Given the description of an element on the screen output the (x, y) to click on. 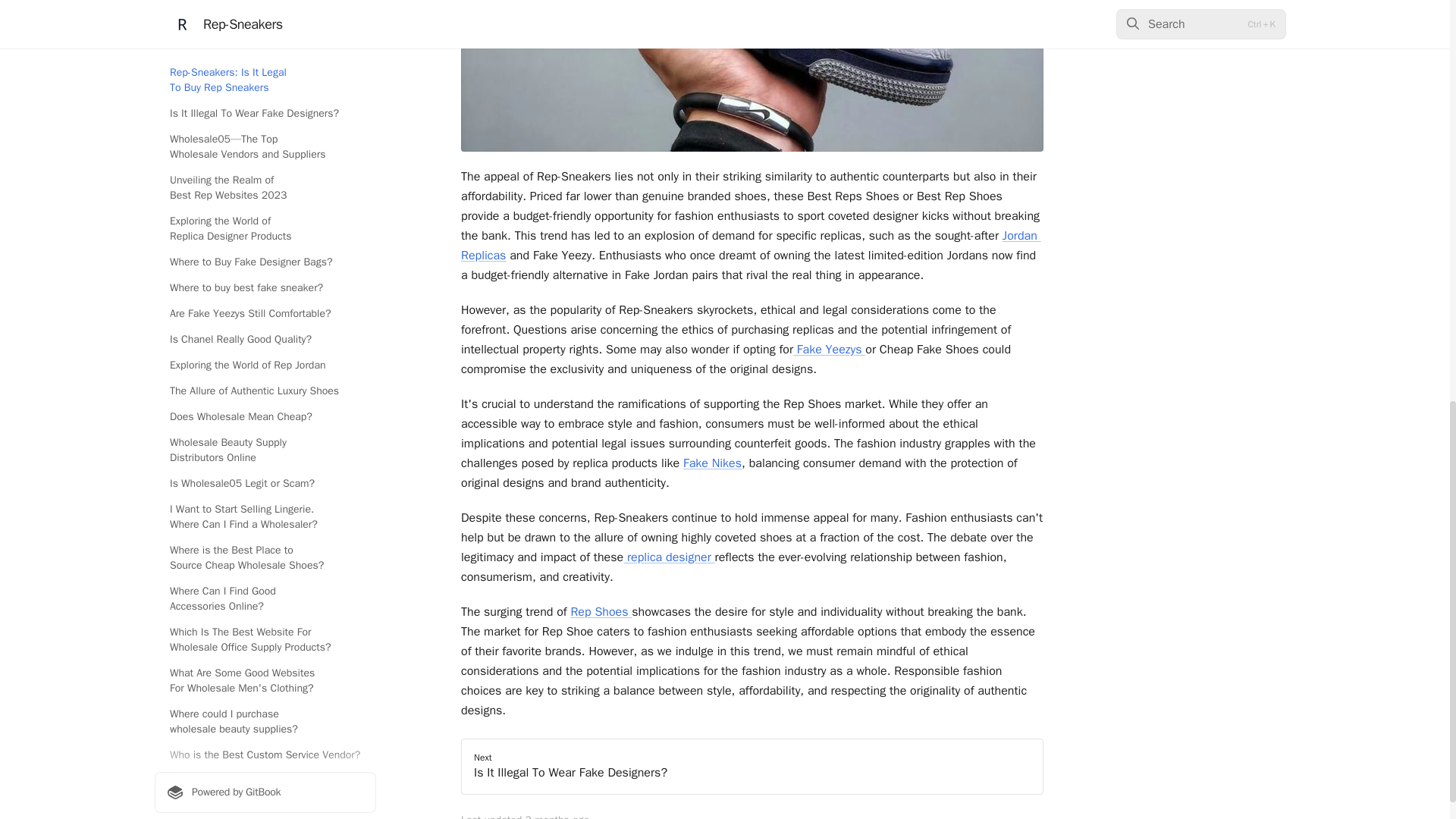
Fake Nikes (711, 462)
replica designer  (670, 557)
Rep Shoes  (600, 611)
Where Can I Find Wholesale Cosmetics Suppliers? (264, 133)
Navigating the Wholesale Beauty Supply Market in the USA (264, 51)
 Fake Yeezys (752, 766)
Jordan Replicas (827, 349)
What Are The Best Wholesale Products To Sell? (751, 245)
